Given the description of an element on the screen output the (x, y) to click on. 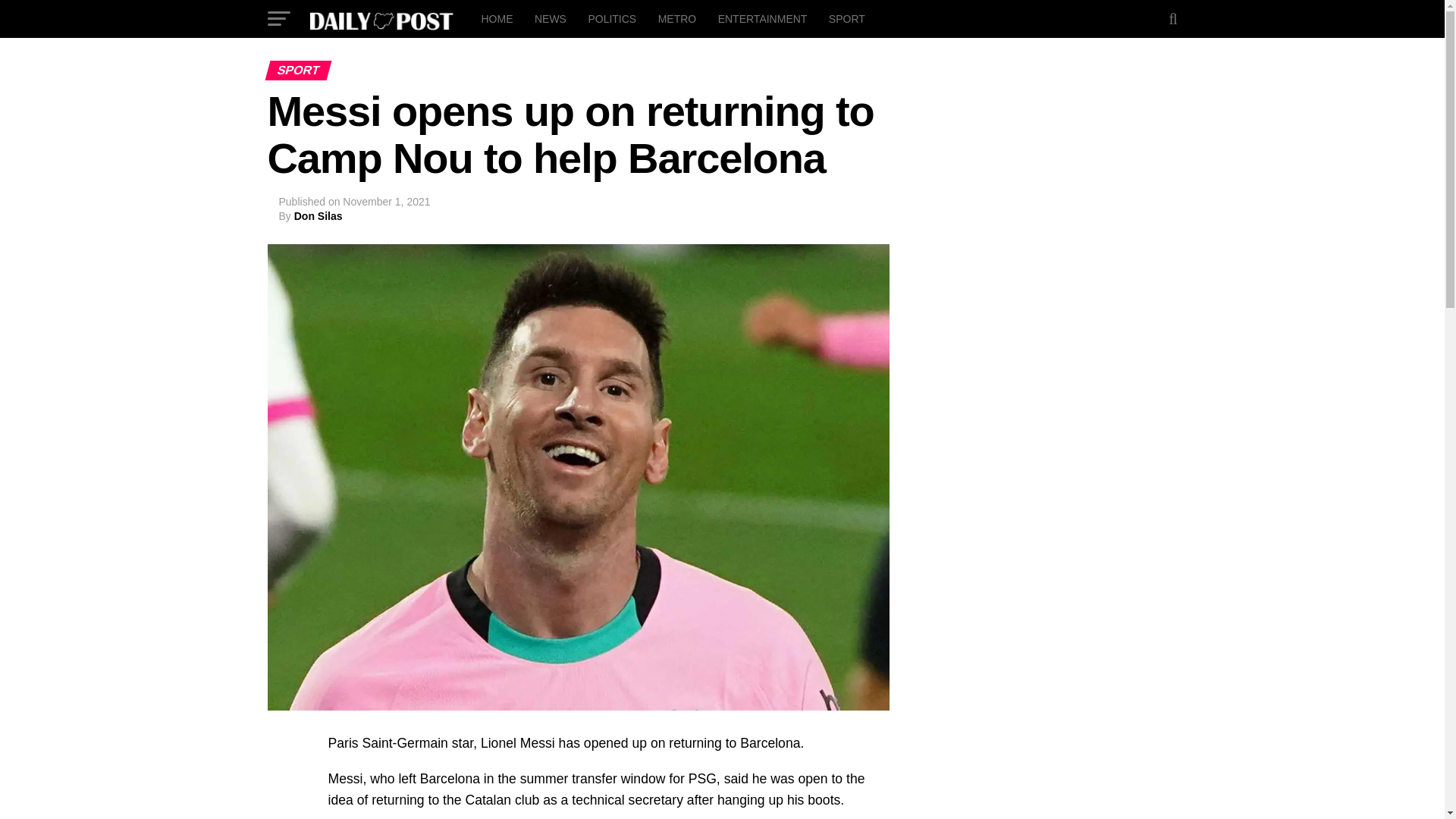
ENTERTAINMENT (762, 18)
SPORT (847, 18)
Posts by Don Silas (318, 215)
HOME (496, 18)
POLITICS (611, 18)
Don Silas (318, 215)
METRO (677, 18)
NEWS (550, 18)
